Given the description of an element on the screen output the (x, y) to click on. 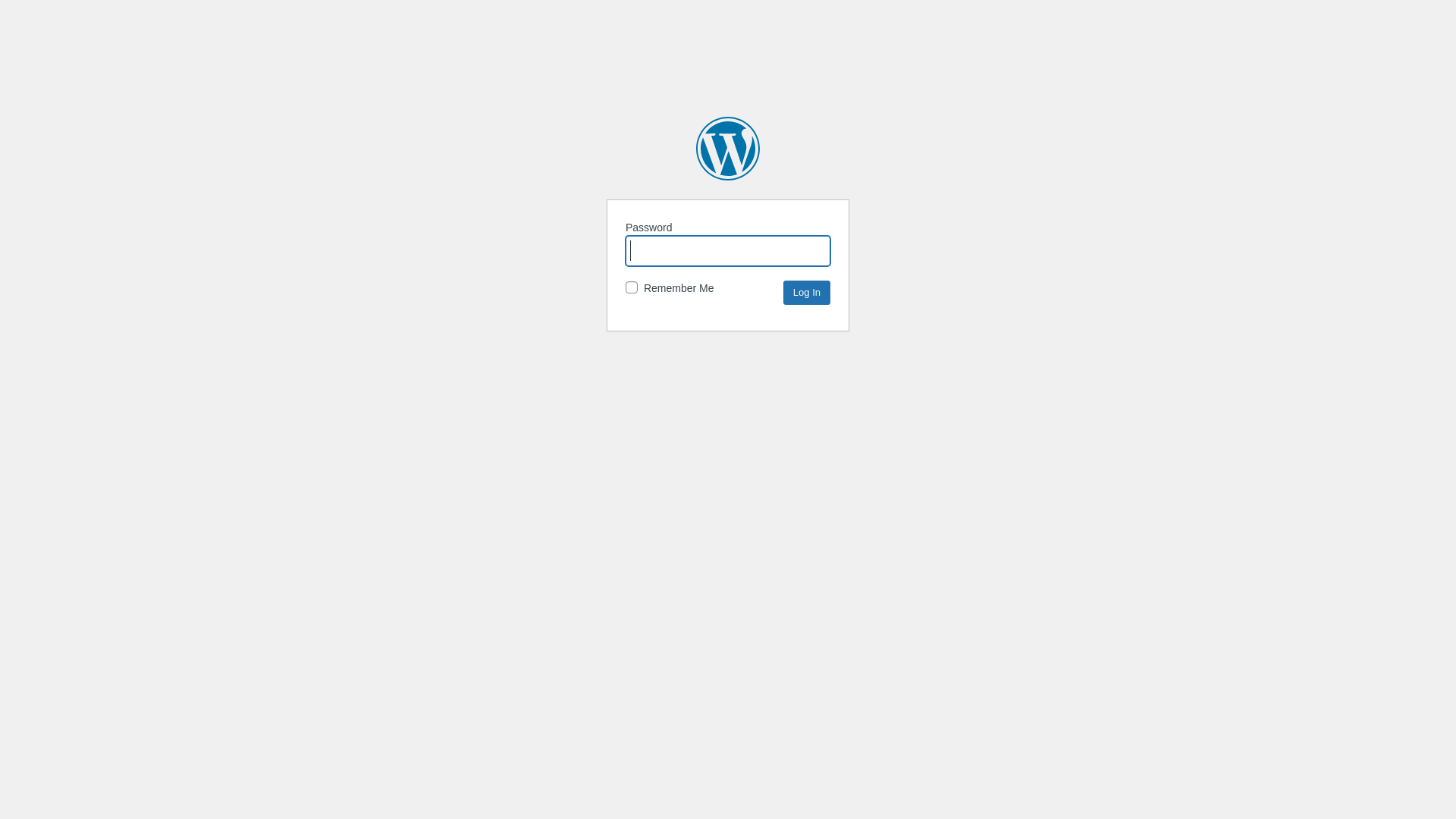
Log In Element type: text (806, 292)
Shaun Dennis Element type: text (727, 148)
